Given the description of an element on the screen output the (x, y) to click on. 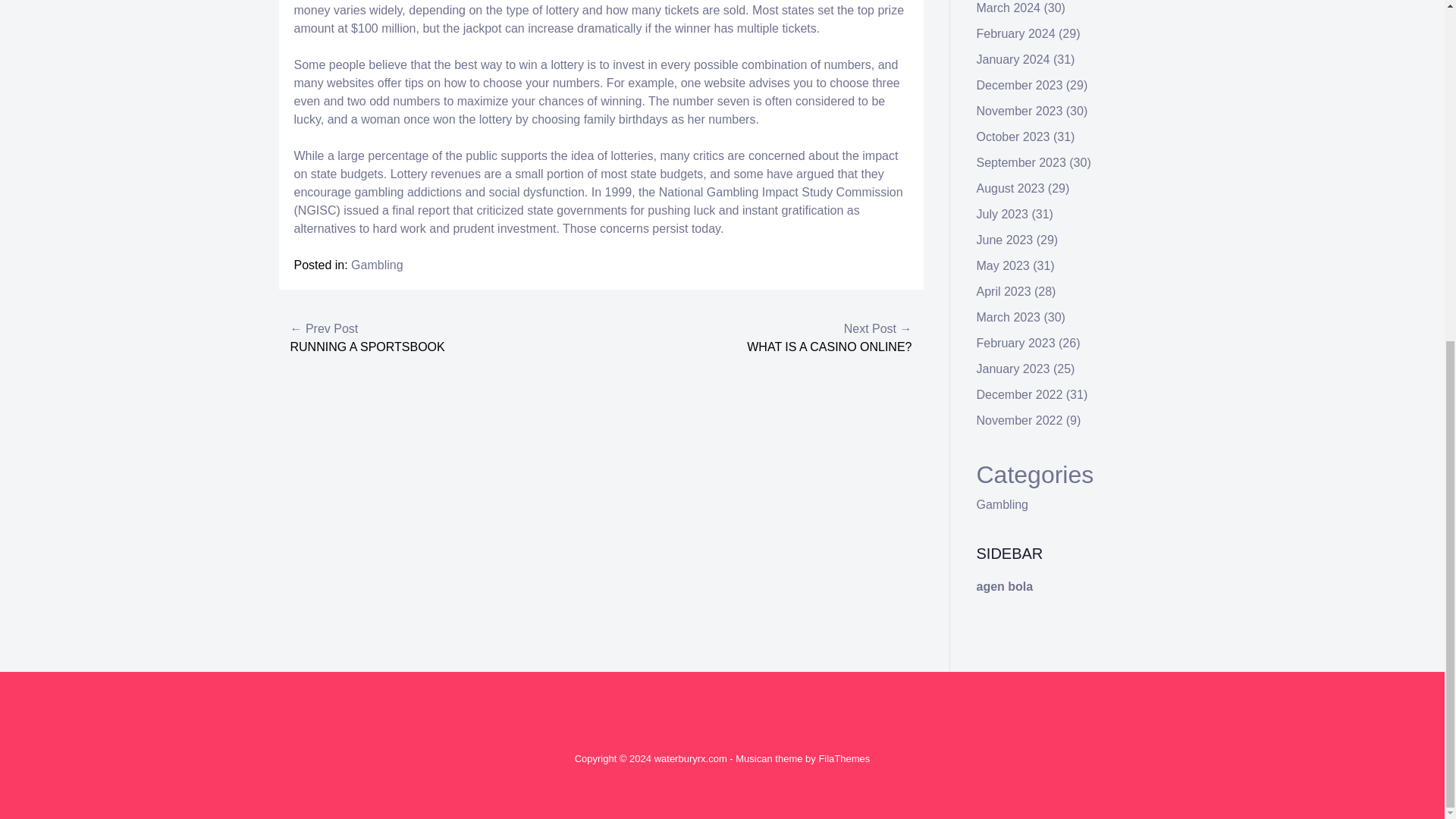
September 2023 (1020, 162)
June 2023 (1004, 239)
February 2024 (1015, 33)
waterburyrx.com (689, 758)
August 2023 (1010, 187)
December 2023 (1019, 84)
Gambling (376, 264)
January 2024 (1012, 59)
Gambling (1001, 504)
February 2023 (1015, 342)
